Given the description of an element on the screen output the (x, y) to click on. 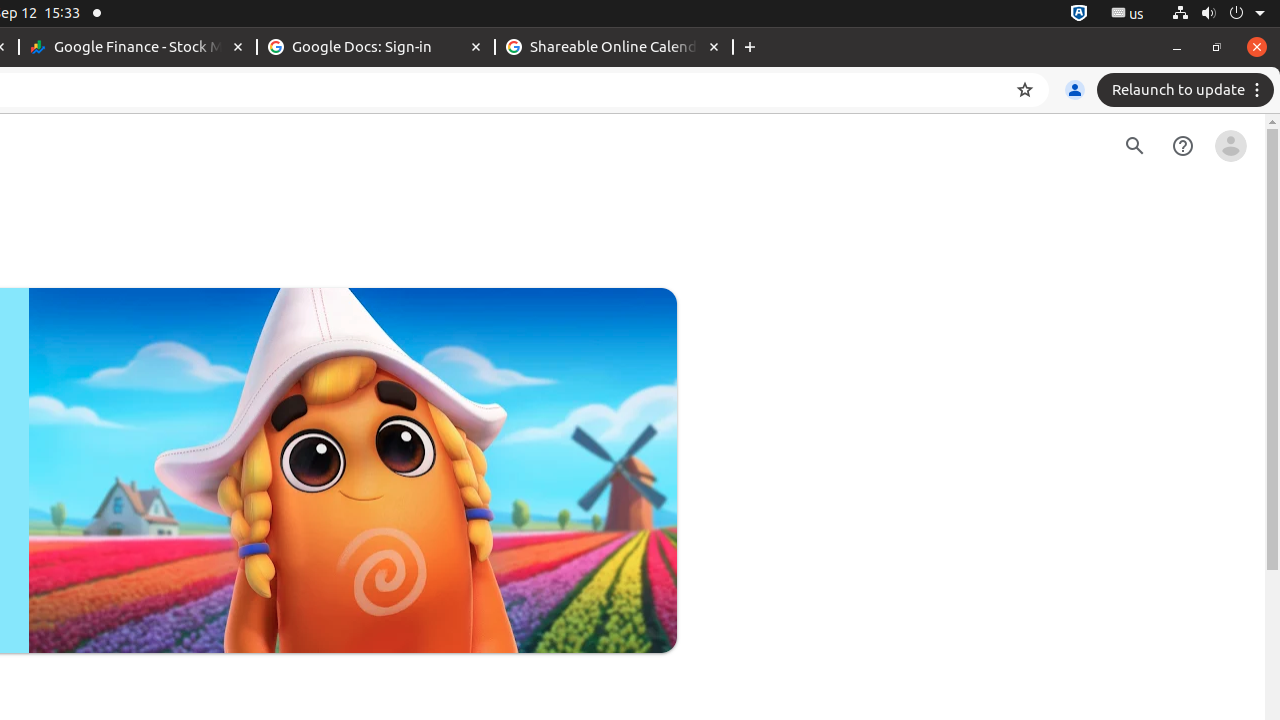
Google Docs: Sign-in - Memory usage - 35.1 MB Element type: page-tab (376, 47)
Help Center Element type: push-button (1183, 146)
System Element type: menu (1218, 13)
You Element type: push-button (1075, 90)
:1.21/StatusNotifierItem Element type: menu (1127, 13)
